Given the description of an element on the screen output the (x, y) to click on. 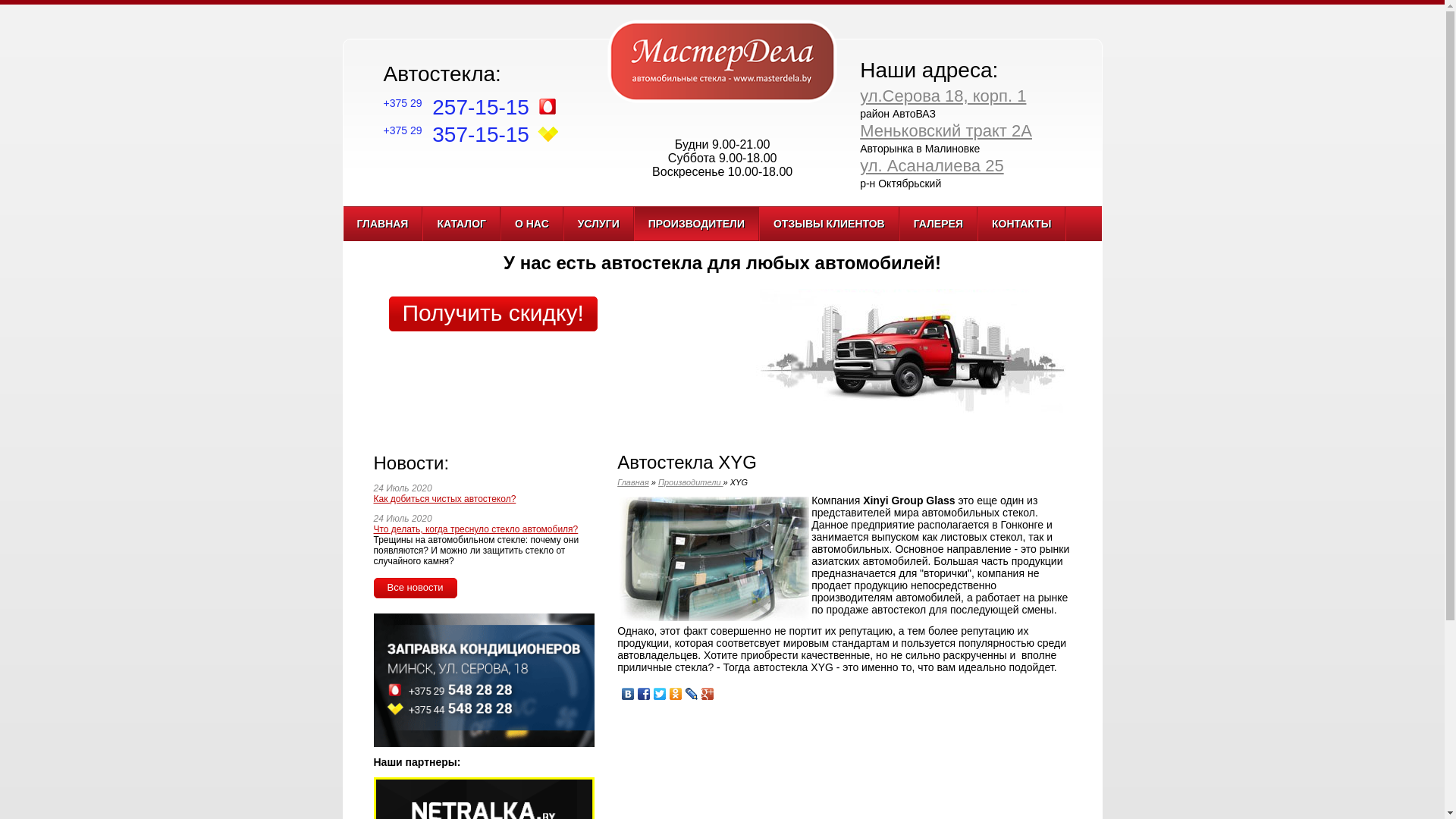
LiveJournal Element type: hover (691, 690)
+375 29 257-15-15 Element type: text (456, 107)
Twitter Element type: hover (660, 690)
Google Plus Element type: hover (707, 690)
Facebook Element type: hover (644, 690)
+375 29 357-15-15 Element type: text (456, 134)
